Given the description of an element on the screen output the (x, y) to click on. 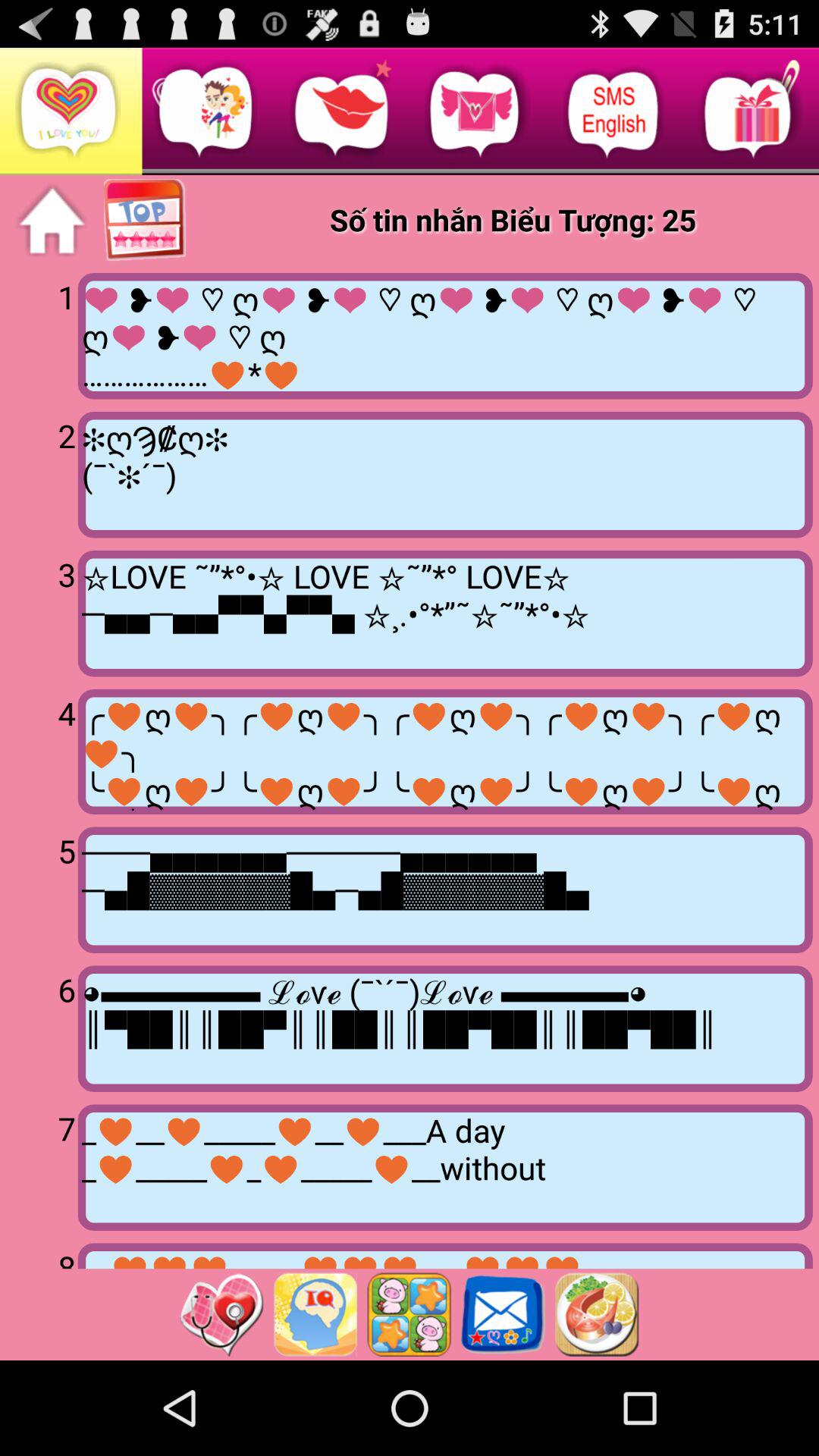
tap the item above the 8 (41, 1165)
